Given the description of an element on the screen output the (x, y) to click on. 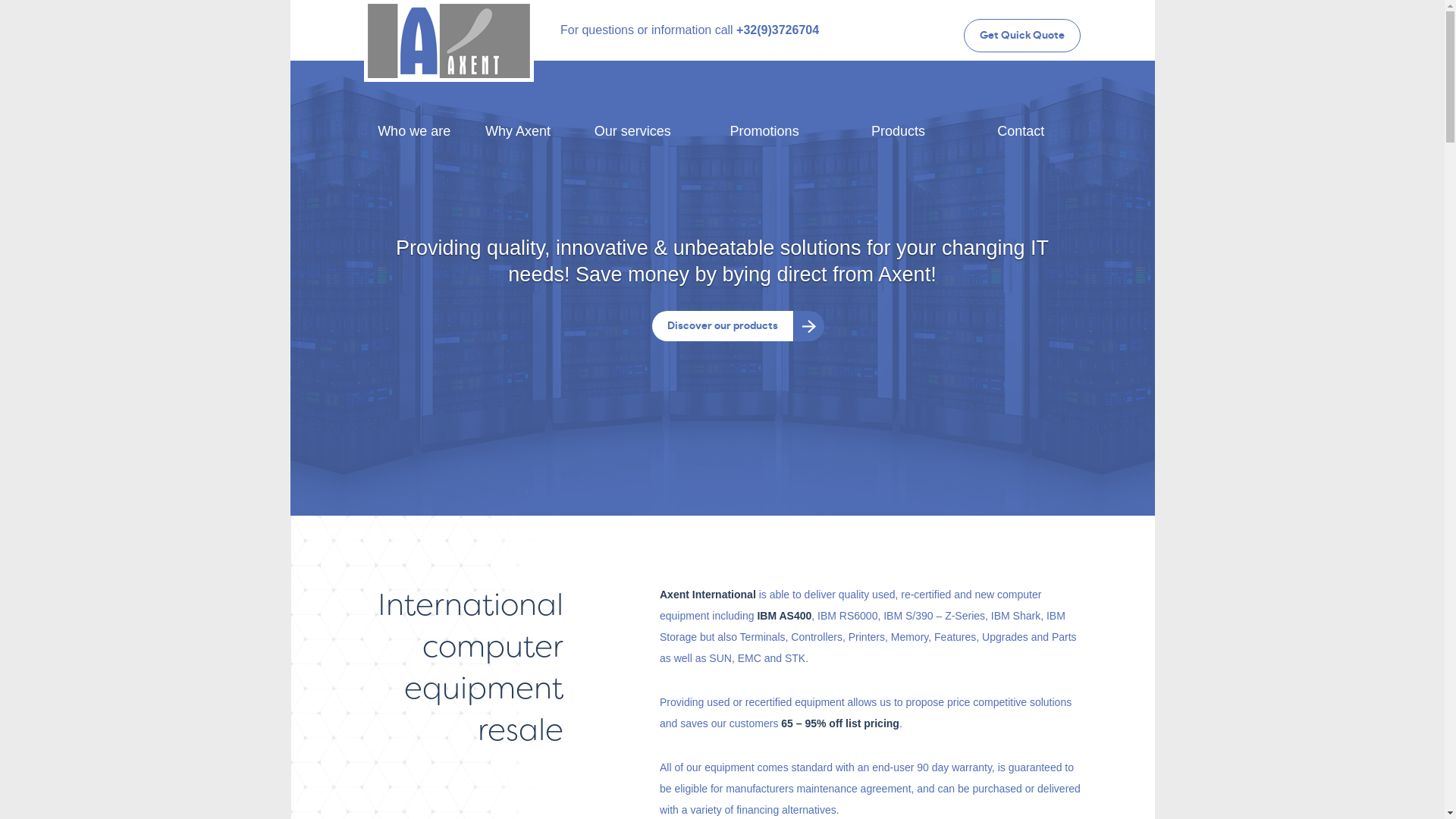
Contact Element type: text (1020, 130)
+32(9)3726704 Element type: text (777, 29)
Get Quick Quote Element type: text (1021, 35)
Who we are Element type: text (414, 130)
Products Element type: text (897, 130)
Promotions Element type: text (763, 130)
Why Axent Element type: text (517, 130)
Axent International Element type: hover (448, 18)
Discover our products
   Element type: text (722, 325)
Our services Element type: text (632, 130)
Axent International Element type: hover (448, 40)
